Given the description of an element on the screen output the (x, y) to click on. 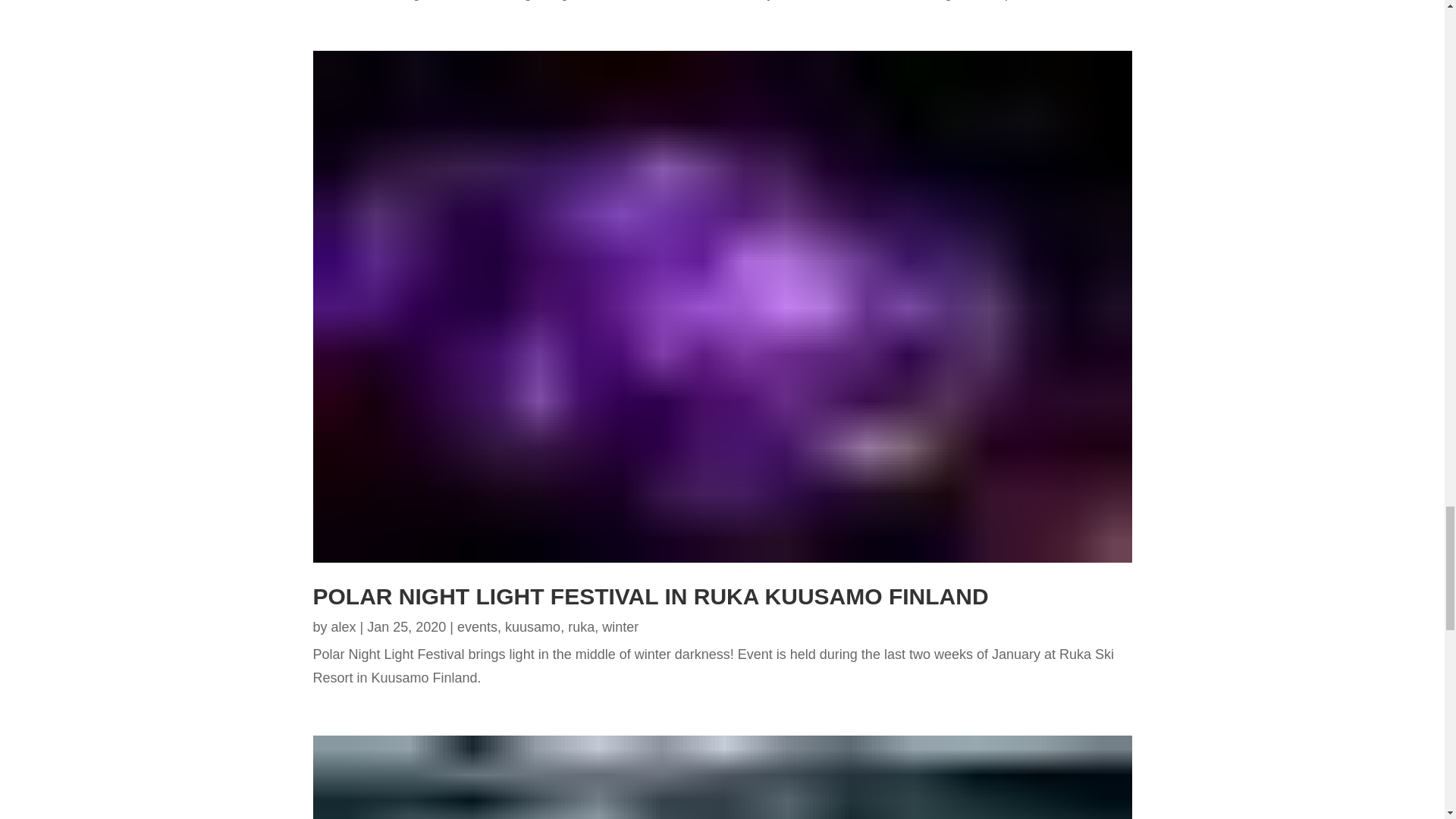
Posts by alex (343, 626)
